Given the description of an element on the screen output the (x, y) to click on. 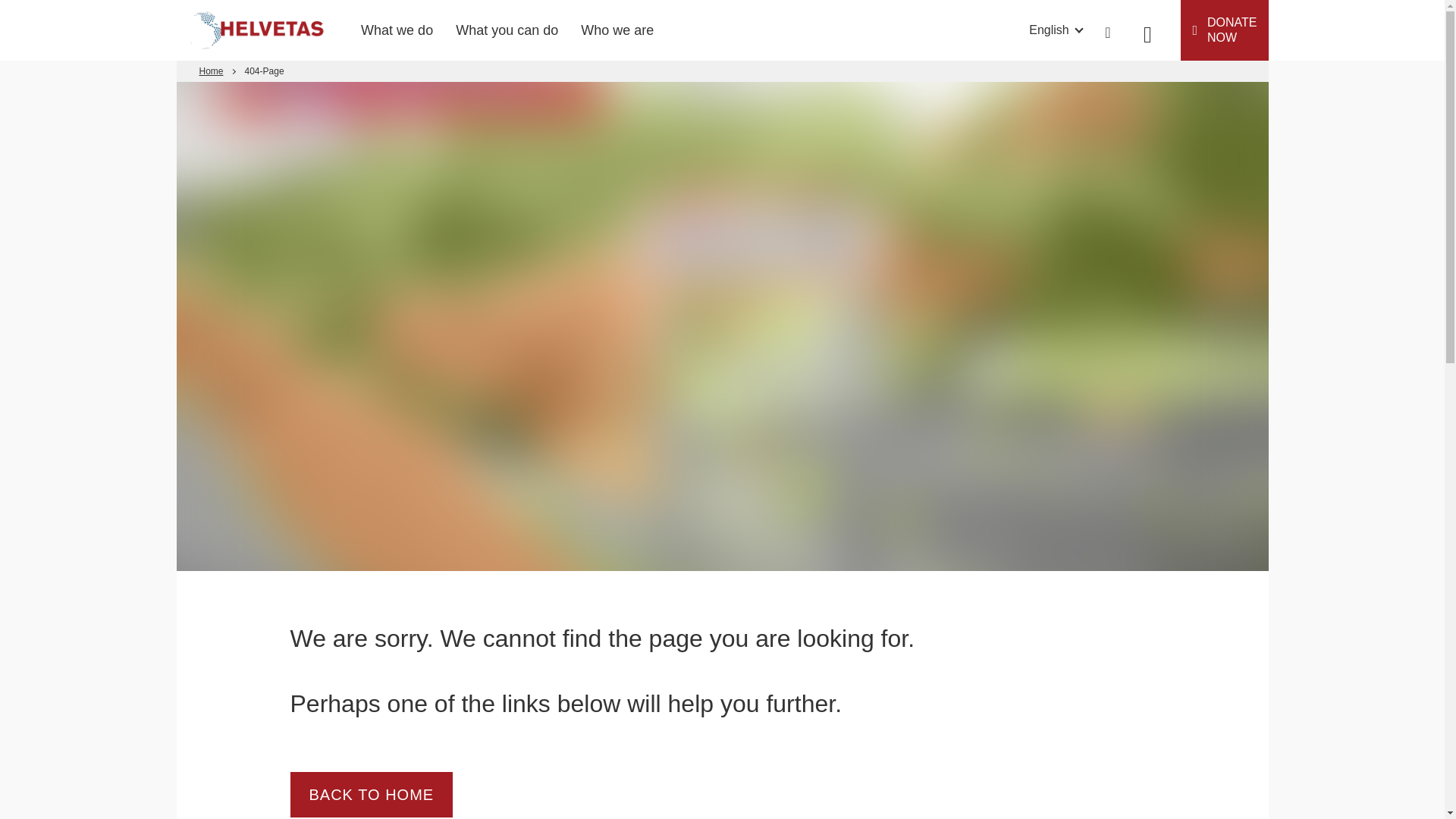
Who we are (617, 30)
What we do (396, 30)
What you can do (506, 30)
